Given the description of an element on the screen output the (x, y) to click on. 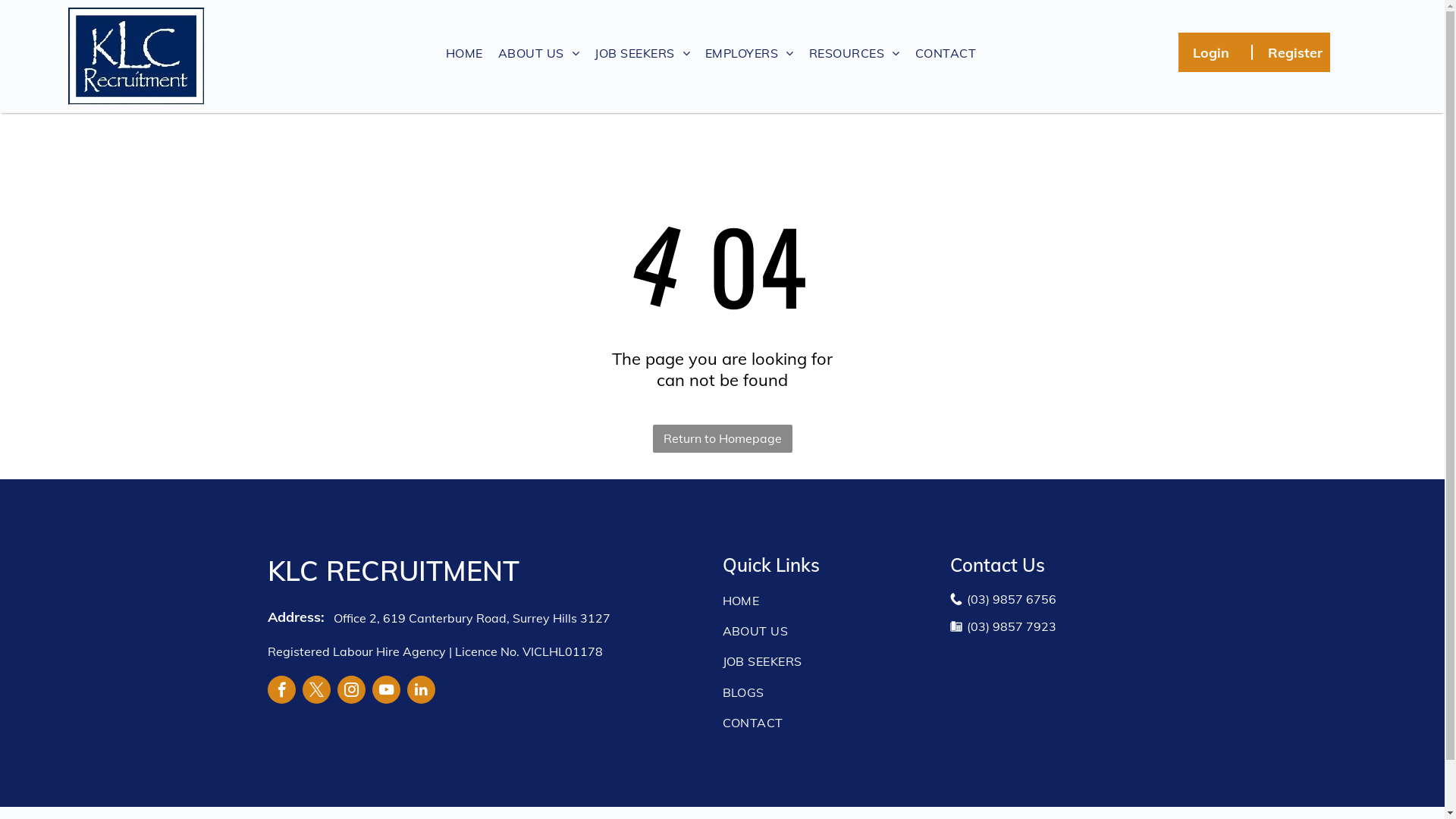
RESOURCES Element type: text (854, 52)
Return to Homepage Element type: text (721, 438)
(03) 9857 6756 Element type: text (1010, 598)
CONTACT Element type: text (945, 52)
CONTACT Element type: text (830, 722)
(03) 9857 7923 Element type: text (1010, 625)
JOB SEEKERS Element type: text (641, 52)
EMPLOYERS Element type: text (749, 52)
HOME Element type: text (464, 52)
BLOGS Element type: text (830, 692)
HOME Element type: text (830, 599)
Register Element type: text (1295, 52)
JOB SEEKERS Element type: text (830, 661)
ABOUT US Element type: text (830, 630)
ABOUT US Element type: text (538, 52)
KLC RECRUITMENT Element type: text (392, 570)
Login Element type: text (1210, 52)
